Given the description of an element on the screen output the (x, y) to click on. 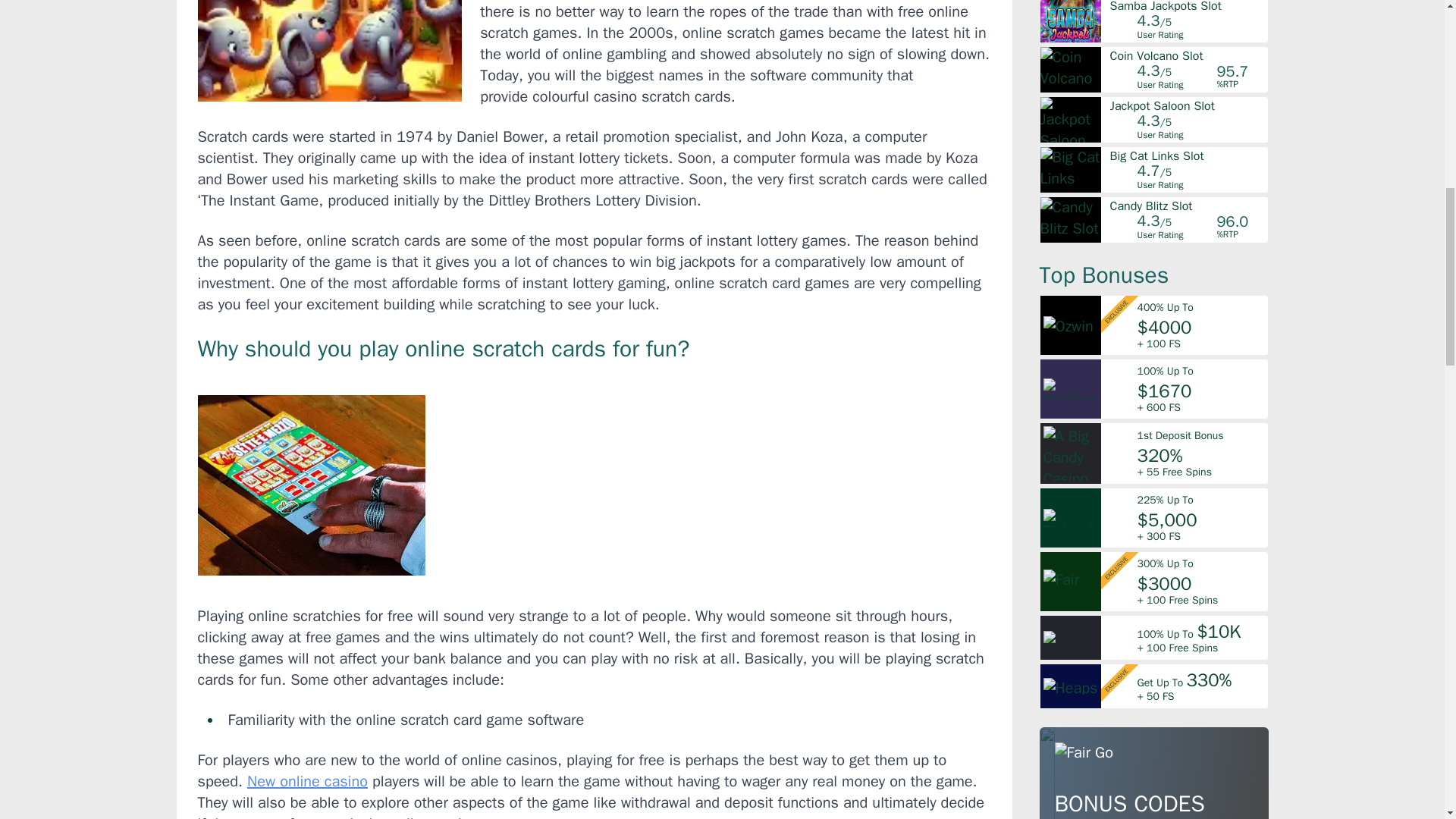
New online casino (307, 781)
Big Cat Links Slot (1187, 155)
Coin Volcano Slot (1187, 55)
Candy Blitz Slot (1187, 205)
Jackpot Saloon Slot (1187, 105)
Scratch Card (310, 484)
Samba Jackpots Slot (1187, 6)
